Given the description of an element on the screen output the (x, y) to click on. 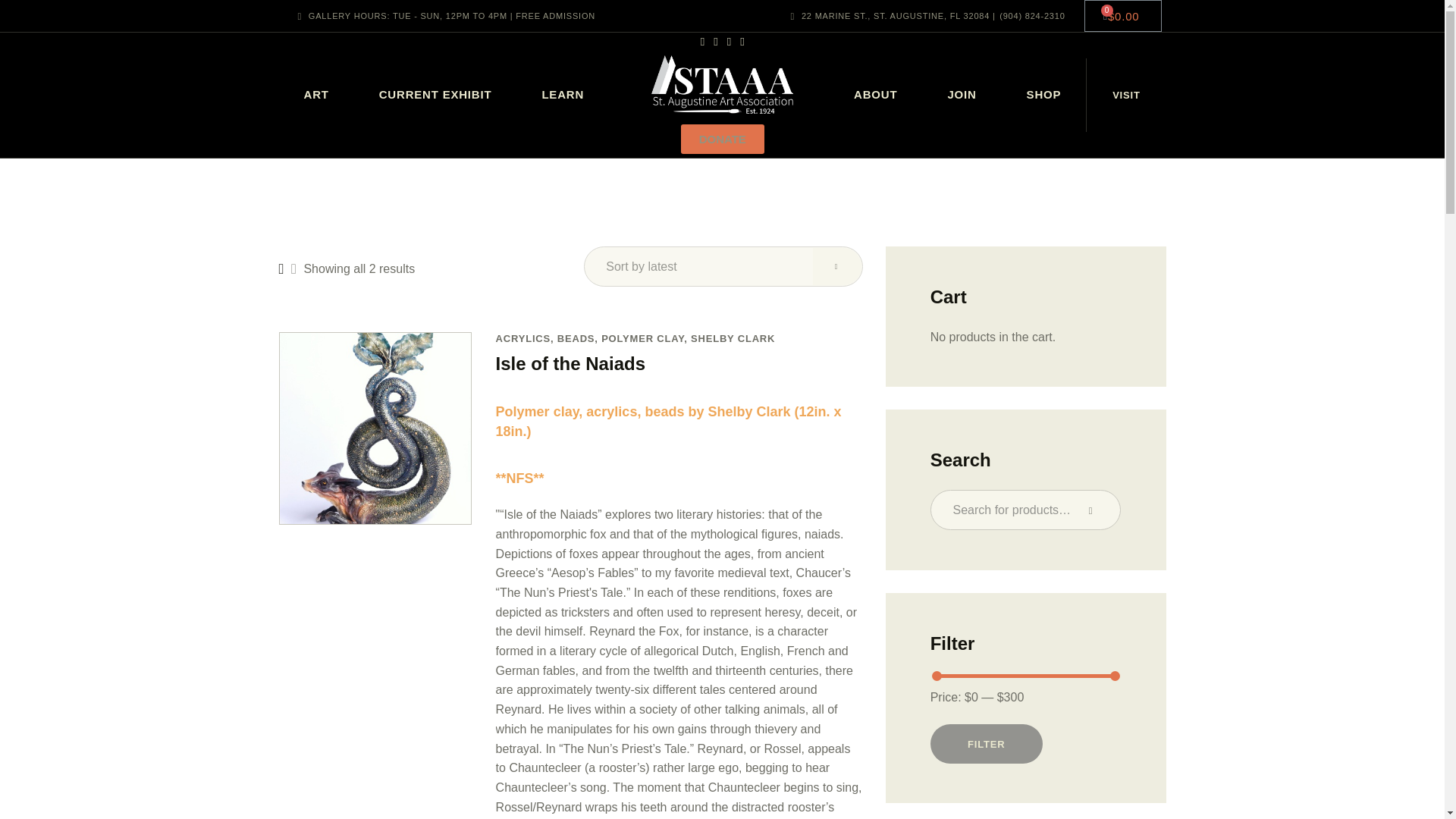
Show products as list (294, 268)
ART (316, 95)
LEARN (562, 95)
Show products as thumbs (281, 268)
CURRENT EXHIBIT (434, 95)
